Given the description of an element on the screen output the (x, y) to click on. 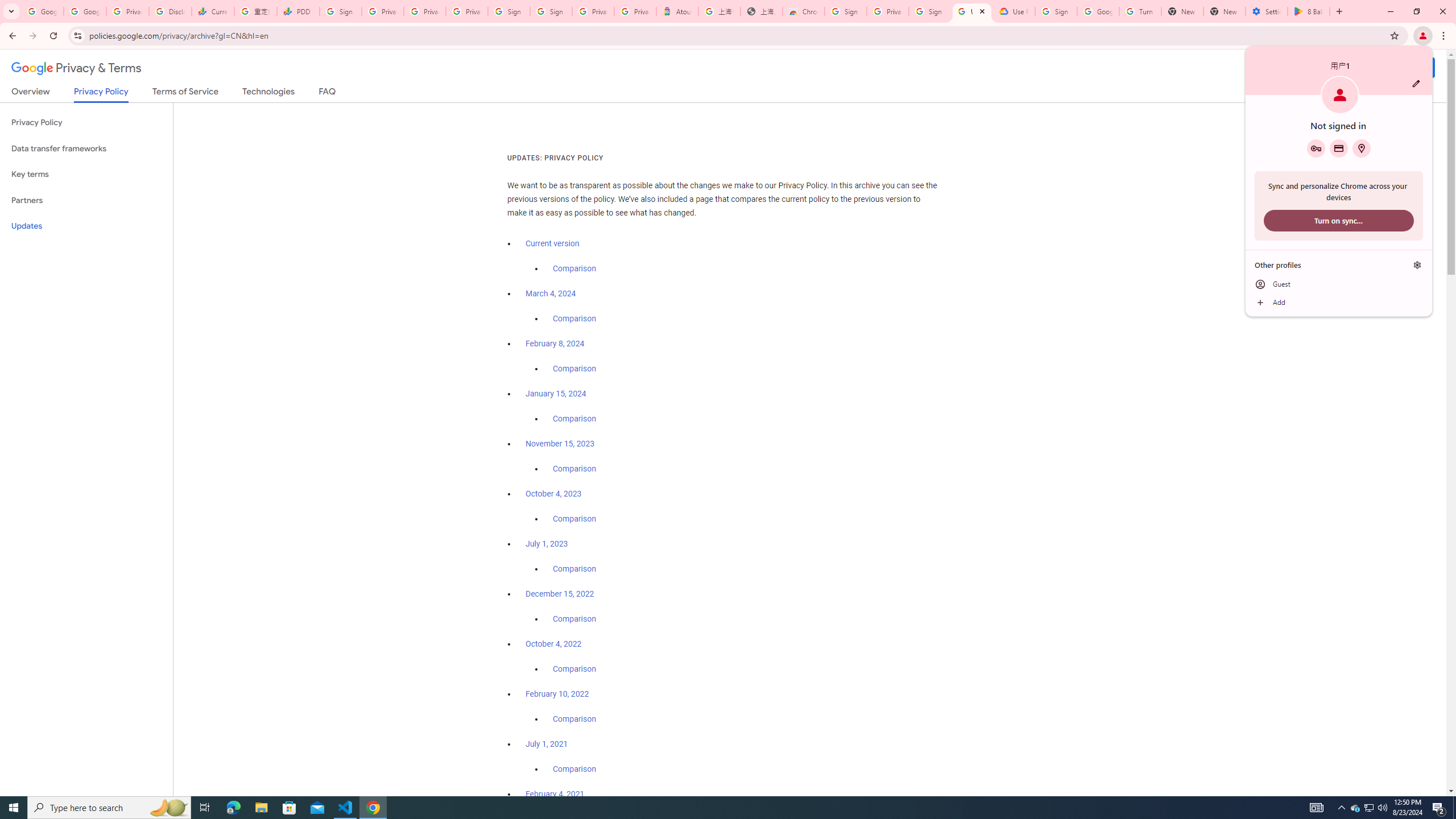
Address and search bar (735, 35)
AutomationID: 4105 (1316, 807)
Start (13, 807)
Google Workspace Admin Community (42, 11)
PDD Holdings Inc - ADR (PDD) Price & News - Google Finance (298, 11)
October 4, 2023 (553, 493)
Sign in - Google Accounts (845, 11)
Privacy Checkup (467, 11)
Chrome Web Store - Color themes by Chrome (803, 11)
Privacy Policy (86, 122)
Currencies - Google Finance (212, 11)
